Given the description of an element on the screen output the (x, y) to click on. 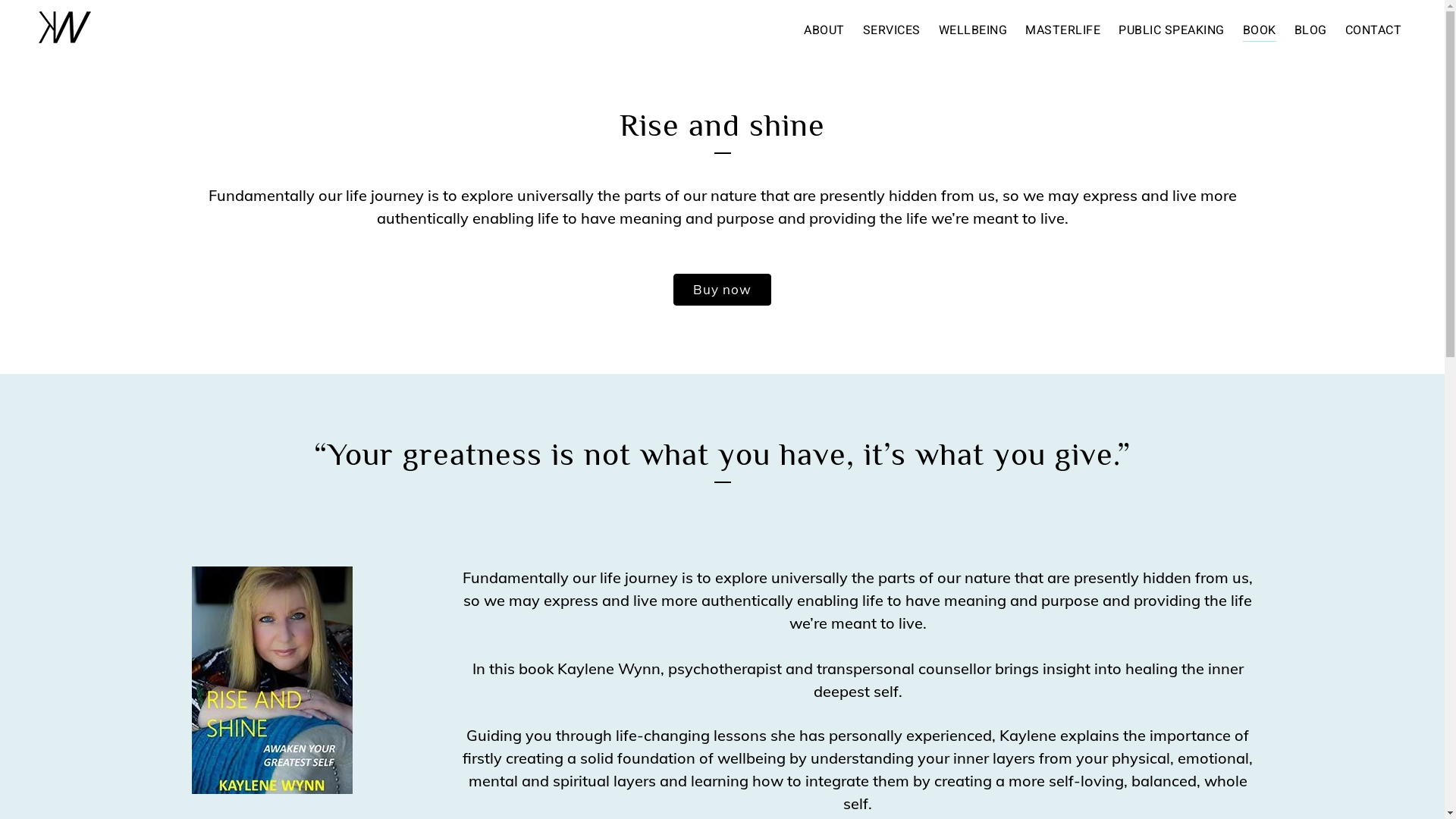
CONTACT Element type: text (1373, 30)
PUBLIC SPEAKING Element type: text (1171, 30)
Kaylene-book-3 Element type: hover (271, 679)
ABOUT Element type: text (823, 30)
SERVICES Element type: text (891, 30)
Buy now Element type: text (722, 289)
BLOG Element type: text (1309, 30)
BOOK Element type: text (1258, 30)
MASTERLIFE Element type: text (1062, 30)
WELLBEING Element type: text (972, 30)
